Given the description of an element on the screen output the (x, y) to click on. 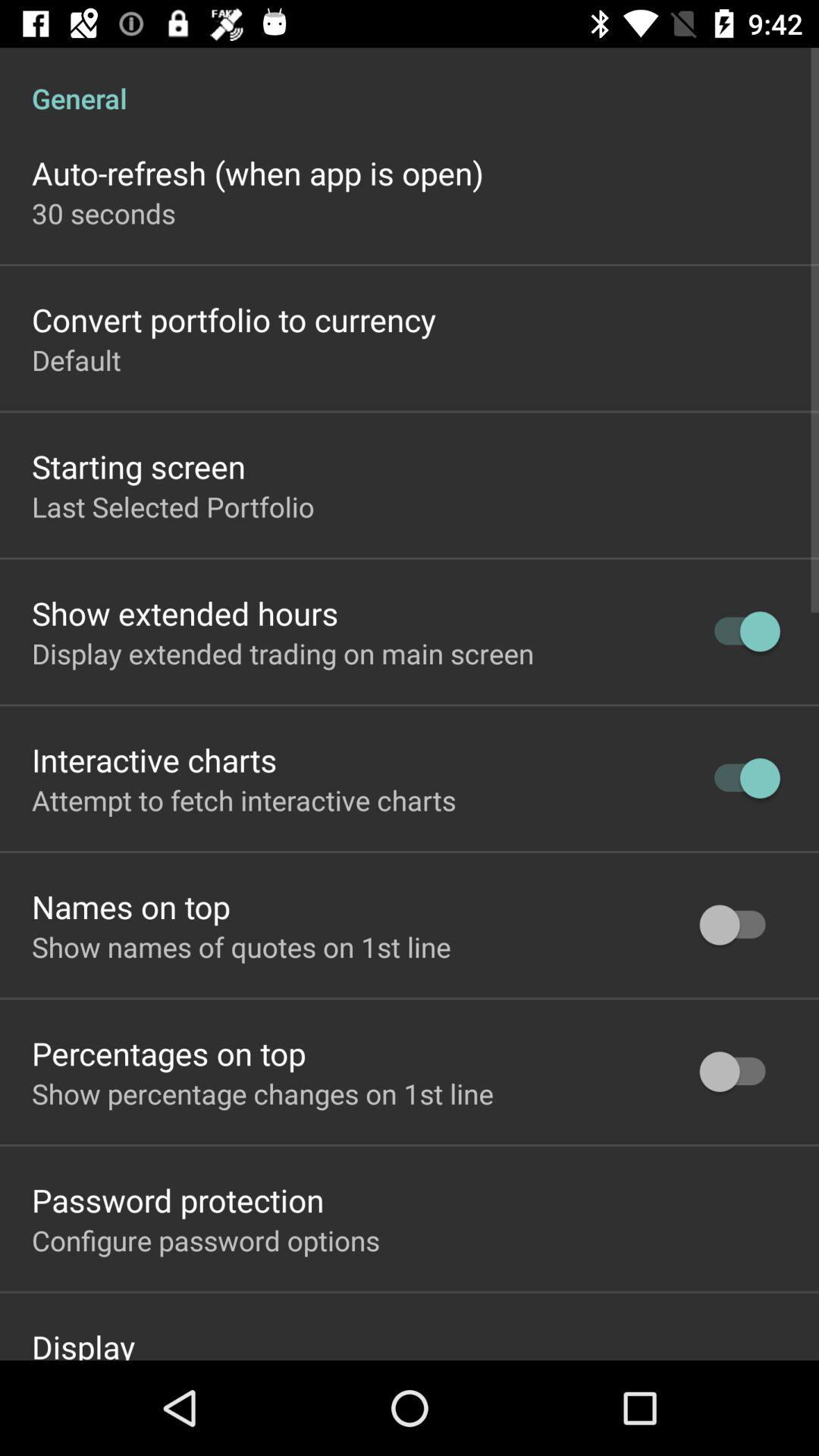
scroll to general item (409, 82)
